Given the description of an element on the screen output the (x, y) to click on. 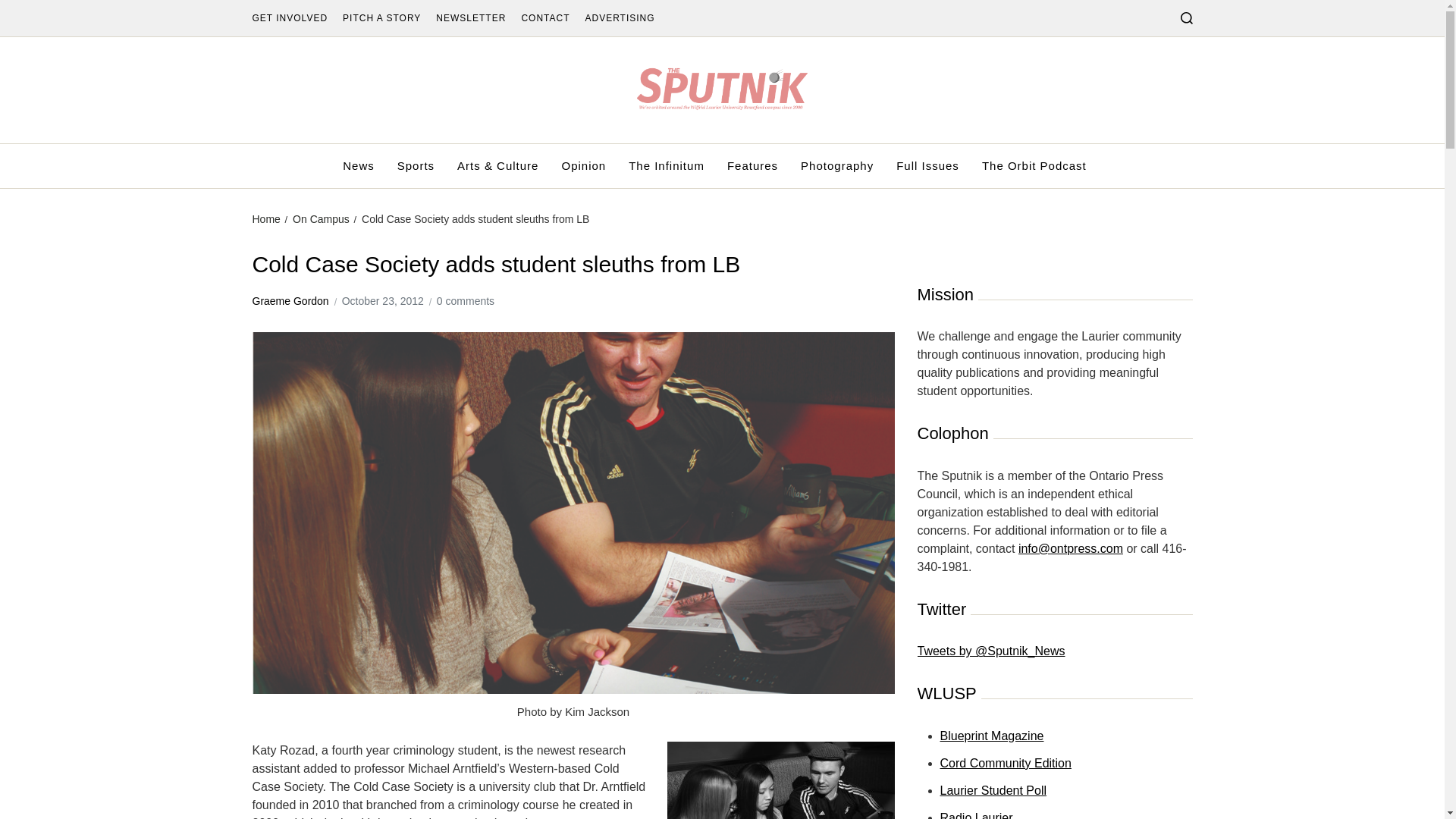
Cold Case Society (780, 780)
The Infinitum (666, 166)
ADVERTISING (619, 18)
The Orbit Podcast (1033, 166)
On Campus (320, 218)
Graeme Gordon (290, 301)
CONTACT (545, 18)
0 comments (465, 301)
Home (265, 218)
Blueprint Magazine (991, 735)
Features (751, 166)
Full Issues (927, 166)
NEWSLETTER (470, 18)
Photography (836, 166)
GET INVOLVED (289, 18)
